Given the description of an element on the screen output the (x, y) to click on. 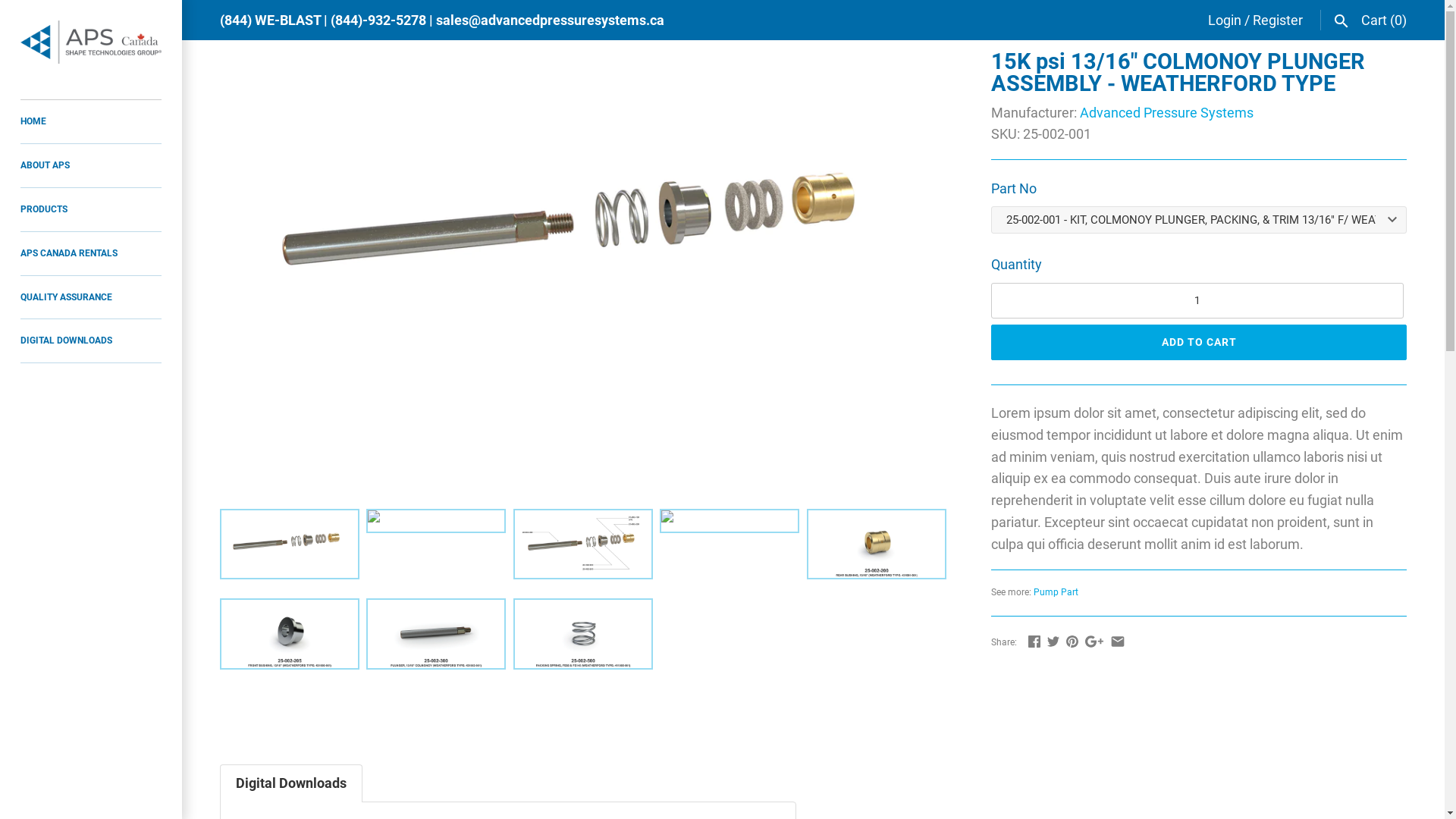
PRODUCTS Element type: text (90, 210)
Pinterest Element type: text (1072, 641)
DIGITAL DOWNLOADS Element type: text (90, 341)
ADD TO CART Element type: text (1198, 342)
15K psi 13/16" Plunger Assembly - Weatherford Type Element type: hover (586, 61)
Pump Part Element type: text (1055, 591)
APS Canada Element type: hover (91, 41)
HOME Element type: text (90, 121)
  Digital Downloads   Element type: text (290, 783)
Cart (0) Element type: text (1383, 20)
Login Element type: text (1224, 20)
APS CANADA RENTALS Element type: text (90, 254)
Register Element type: text (1277, 20)
Email Element type: text (1117, 641)
ABOUT APS Element type: text (90, 166)
QUALITY ASSURANCE Element type: text (90, 298)
Search Element type: text (1341, 20)
Advanced Pressure Systems Element type: text (1166, 112)
Twitter Element type: text (1053, 641)
Facebook Element type: text (1034, 641)
GooglePlus Element type: text (1094, 641)
